Given the description of an element on the screen output the (x, y) to click on. 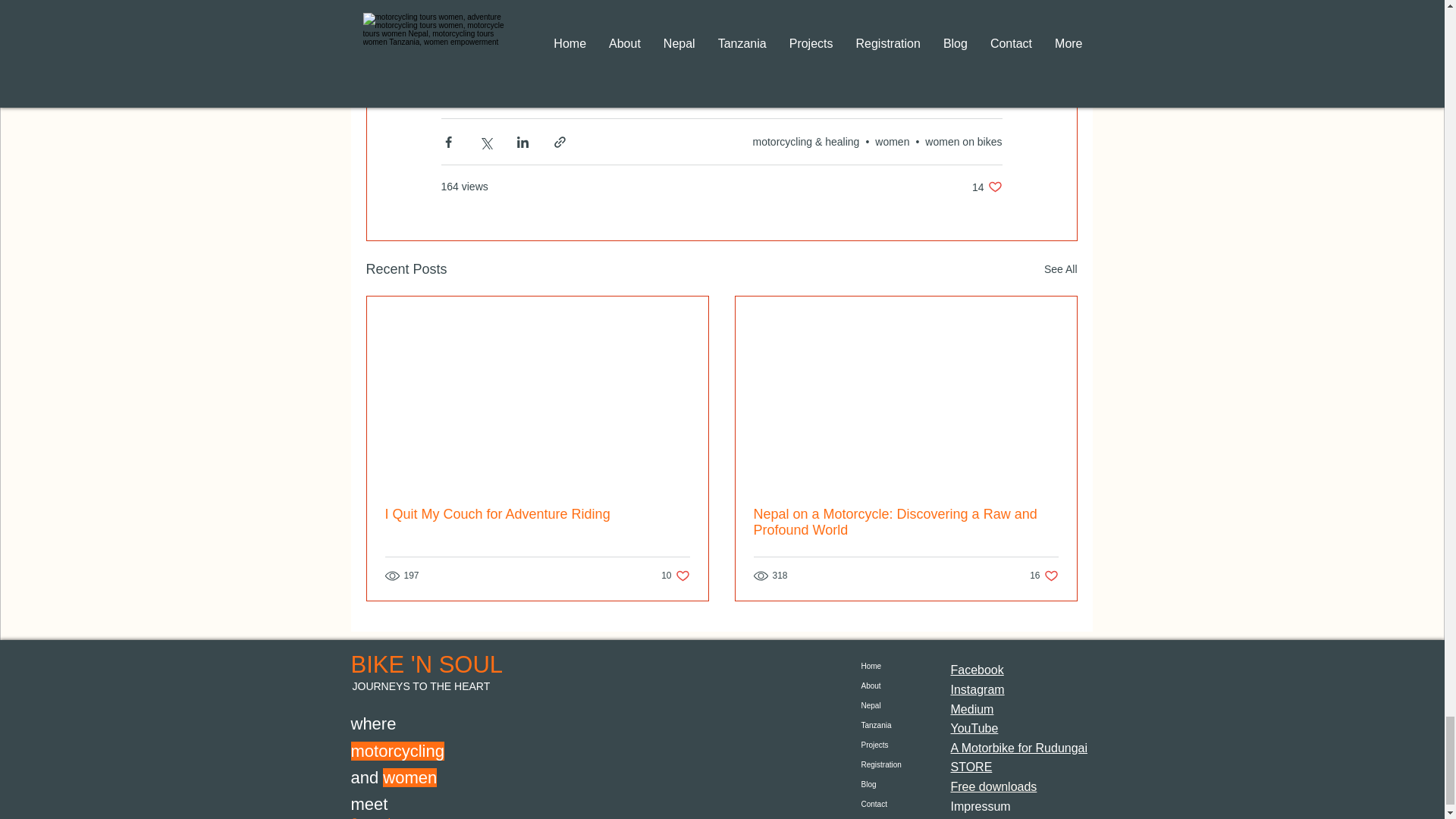
women supporting women (987, 186)
women and bikes (524, 80)
I Quit My Couch for Adventure Riding (807, 51)
women on bikes (1043, 575)
women (537, 514)
courage (962, 141)
Home (473, 51)
About (646, 80)
women (887, 666)
Nepal on a Motorcycle: Discovering a Raw and Profound World (887, 686)
BIKE 'N SOUL (674, 575)
subscribe (891, 141)
